Given the description of an element on the screen output the (x, y) to click on. 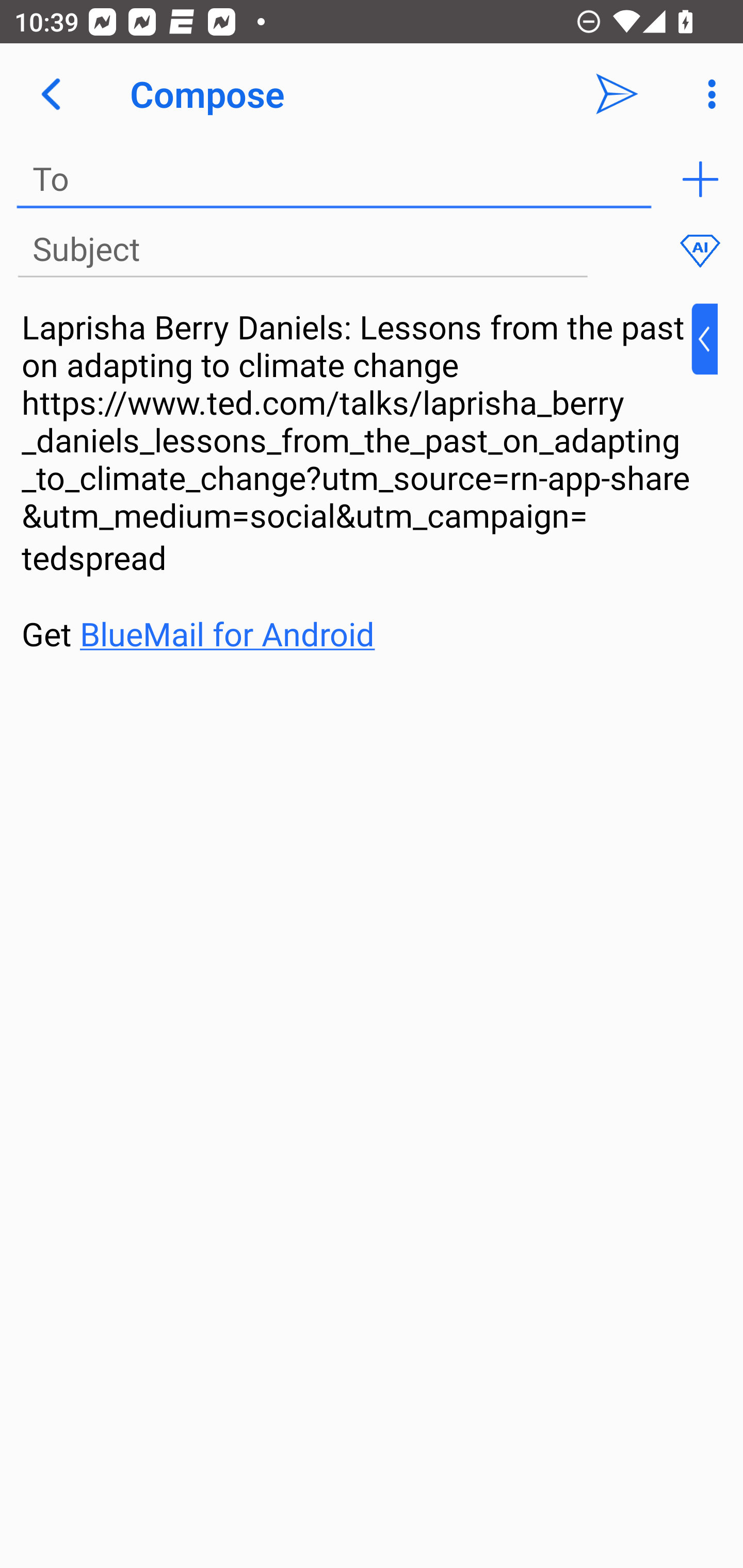
Navigate up (50, 93)
Send (616, 93)
More Options (706, 93)
To (334, 179)
Add recipient (To) (699, 179)
Subject (302, 249)
